Given the description of an element on the screen output the (x, y) to click on. 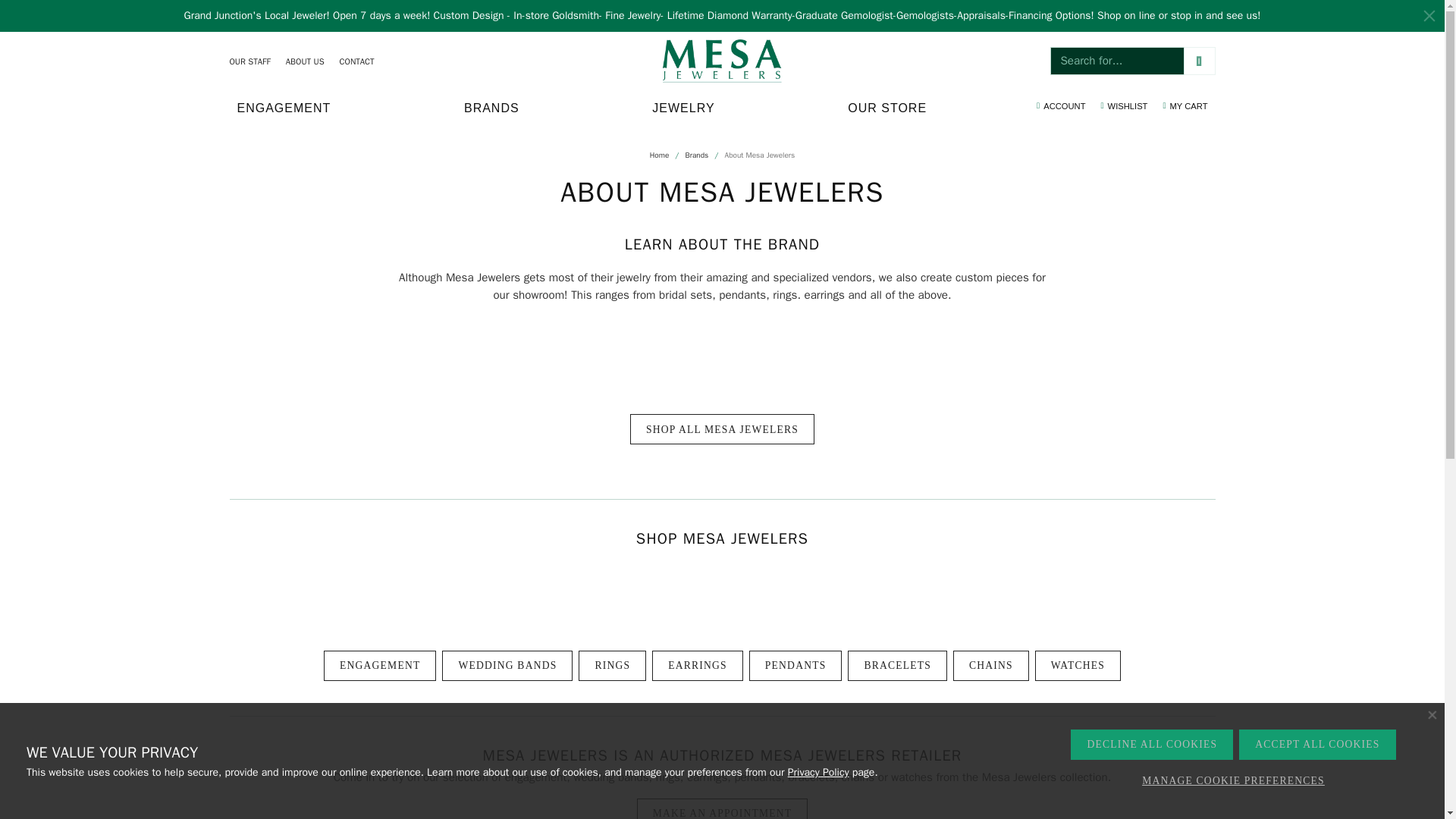
Skip to main content (304, 60)
ENGAGEMENT (7, 3)
BRANDS (282, 108)
